Given the description of an element on the screen output the (x, y) to click on. 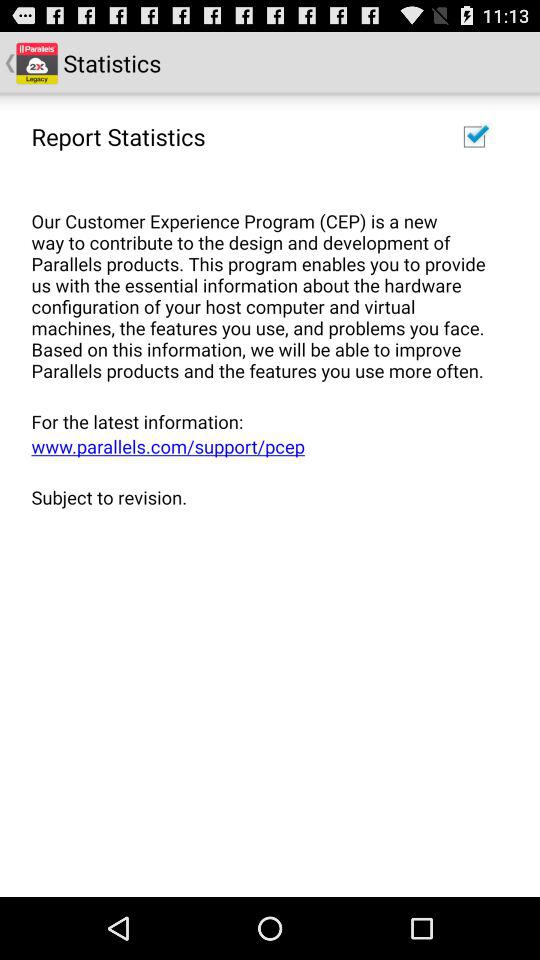
press the icon above for the latest (263, 284)
